Given the description of an element on the screen output the (x, y) to click on. 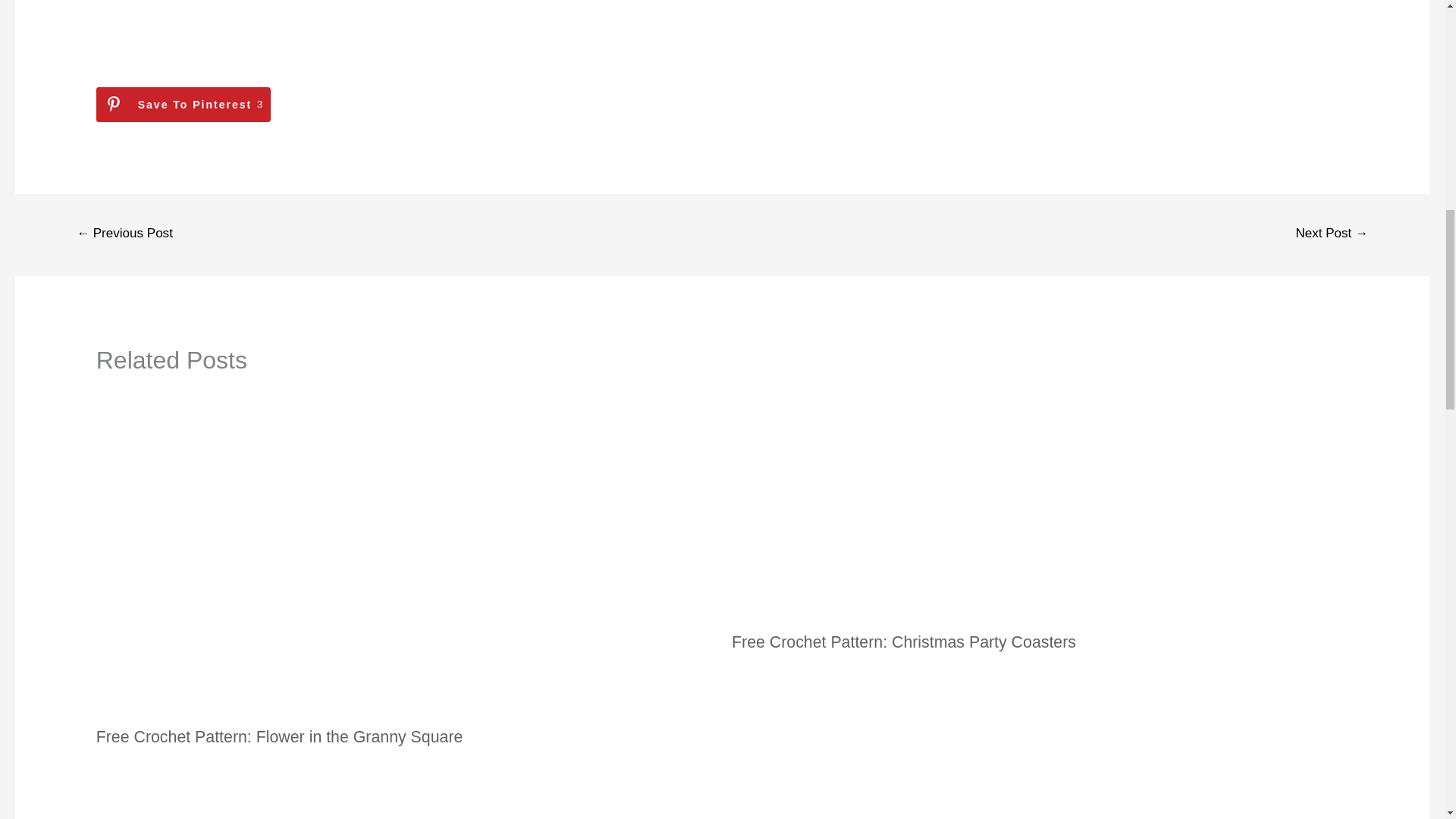
Free Crochet Pattern: Flower in the Granny Square (279, 737)
Free Crochet Pattern: Christmas Party Coasters (183, 104)
Save to Pinterest (903, 642)
